Given the description of an element on the screen output the (x, y) to click on. 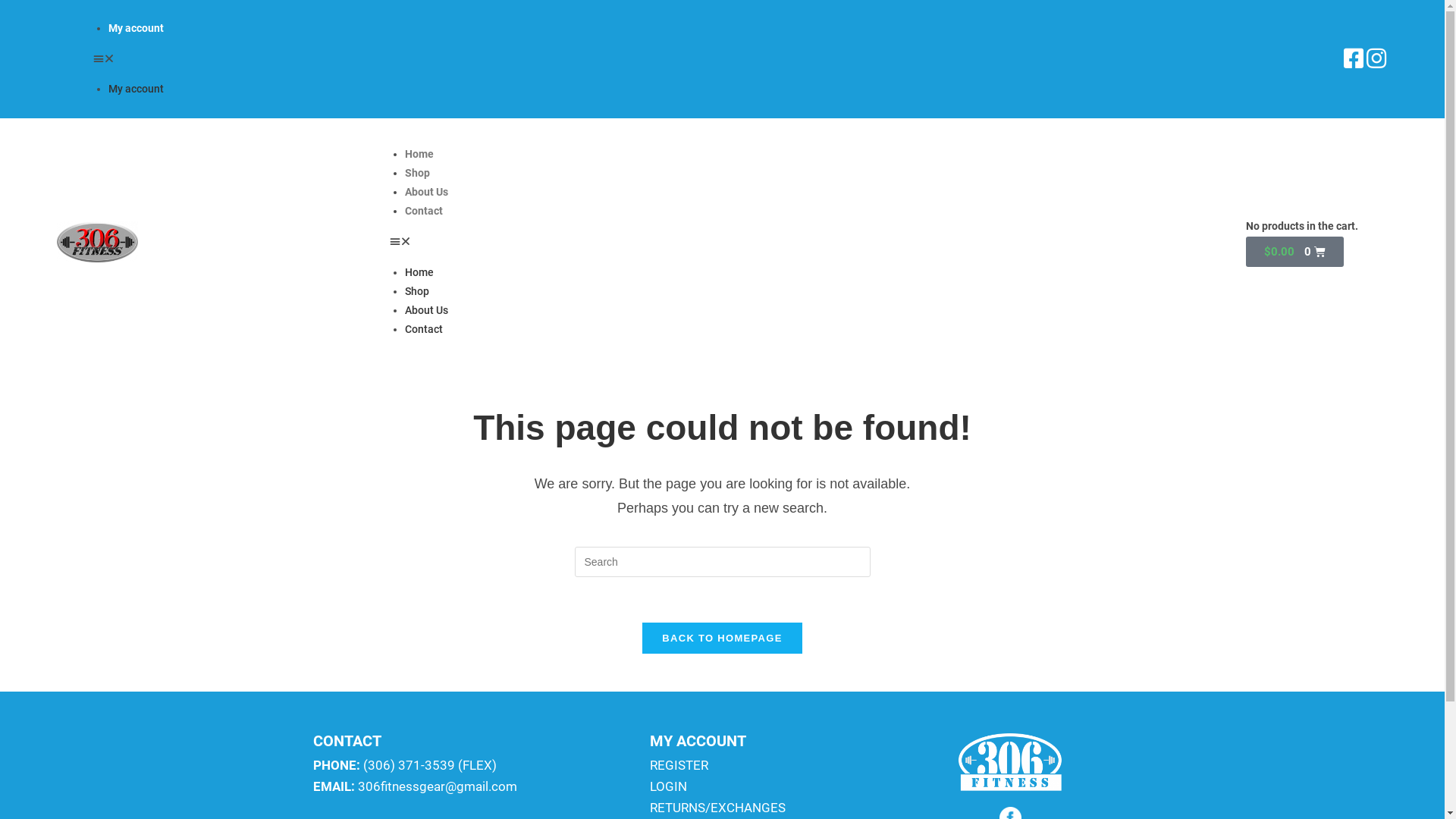
306fitnessgear@gmail.com Element type: text (437, 785)
Contact Element type: text (423, 329)
LOGIN Element type: text (668, 785)
Shop Element type: text (416, 291)
About Us Element type: text (426, 191)
BACK TO HOMEPAGE Element type: text (721, 637)
RETURNS/EXCHANGES Element type: text (717, 807)
Contact Element type: text (423, 210)
Home Element type: text (418, 271)
REGISTER Element type: text (678, 764)
My account Element type: text (135, 27)
Home Element type: text (418, 153)
My account Element type: text (135, 88)
About Us Element type: text (426, 310)
$0.00 0 Element type: text (1294, 251)
Shop Element type: text (416, 172)
